Given the description of an element on the screen output the (x, y) to click on. 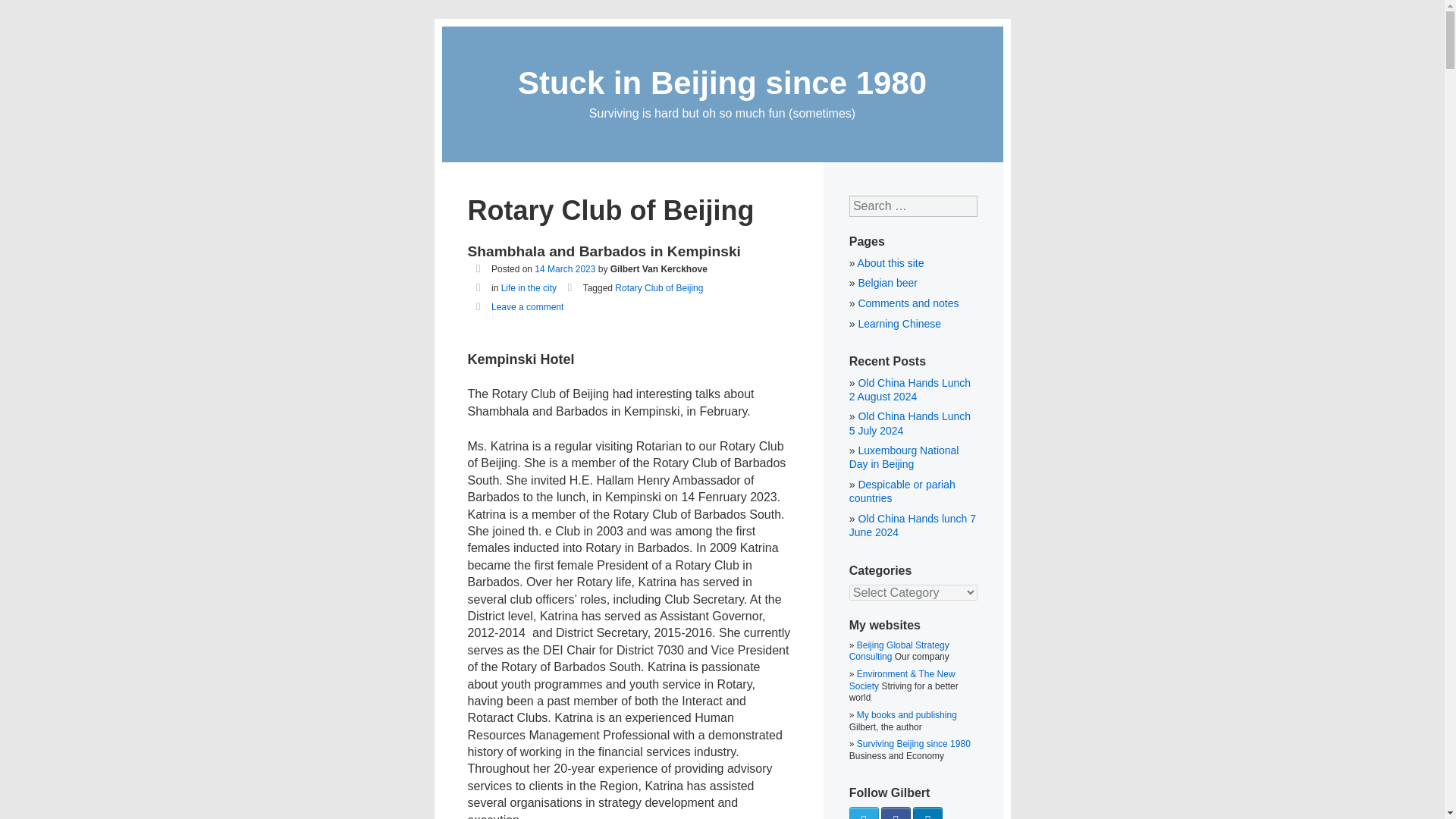
Leave a comment (527, 307)
14 March 2023 (564, 268)
Stuck in Beijing since 1980 (722, 82)
Life in the city (528, 287)
Shambhala and Barbados in Kempinski (603, 251)
Rotary Club of Beijing (658, 287)
